Given the description of an element on the screen output the (x, y) to click on. 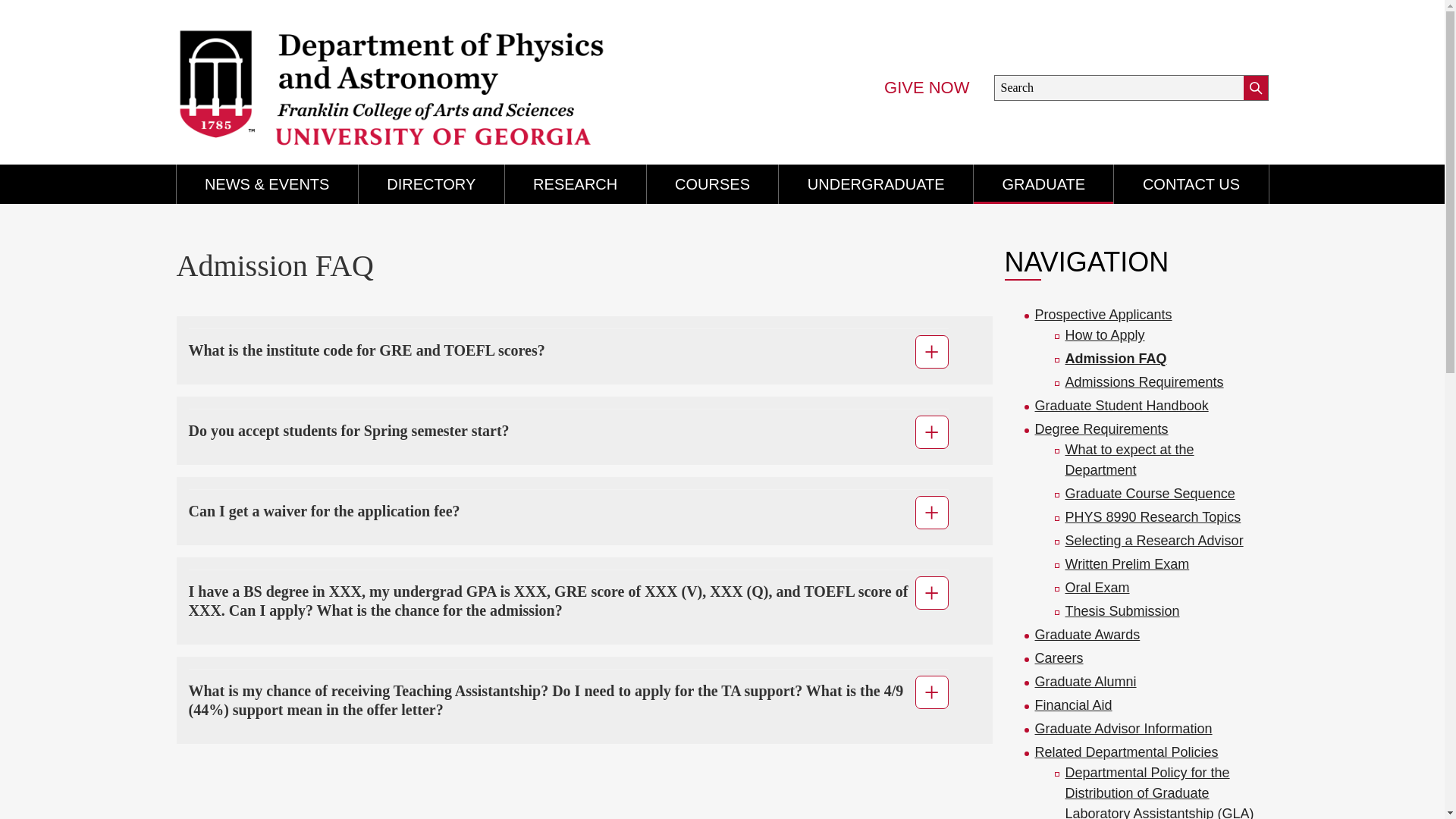
Home (432, 75)
RESEARCH (575, 183)
Submit Search (1255, 87)
GIVE NOW (926, 88)
DIRECTORY (430, 183)
